Given the description of an element on the screen output the (x, y) to click on. 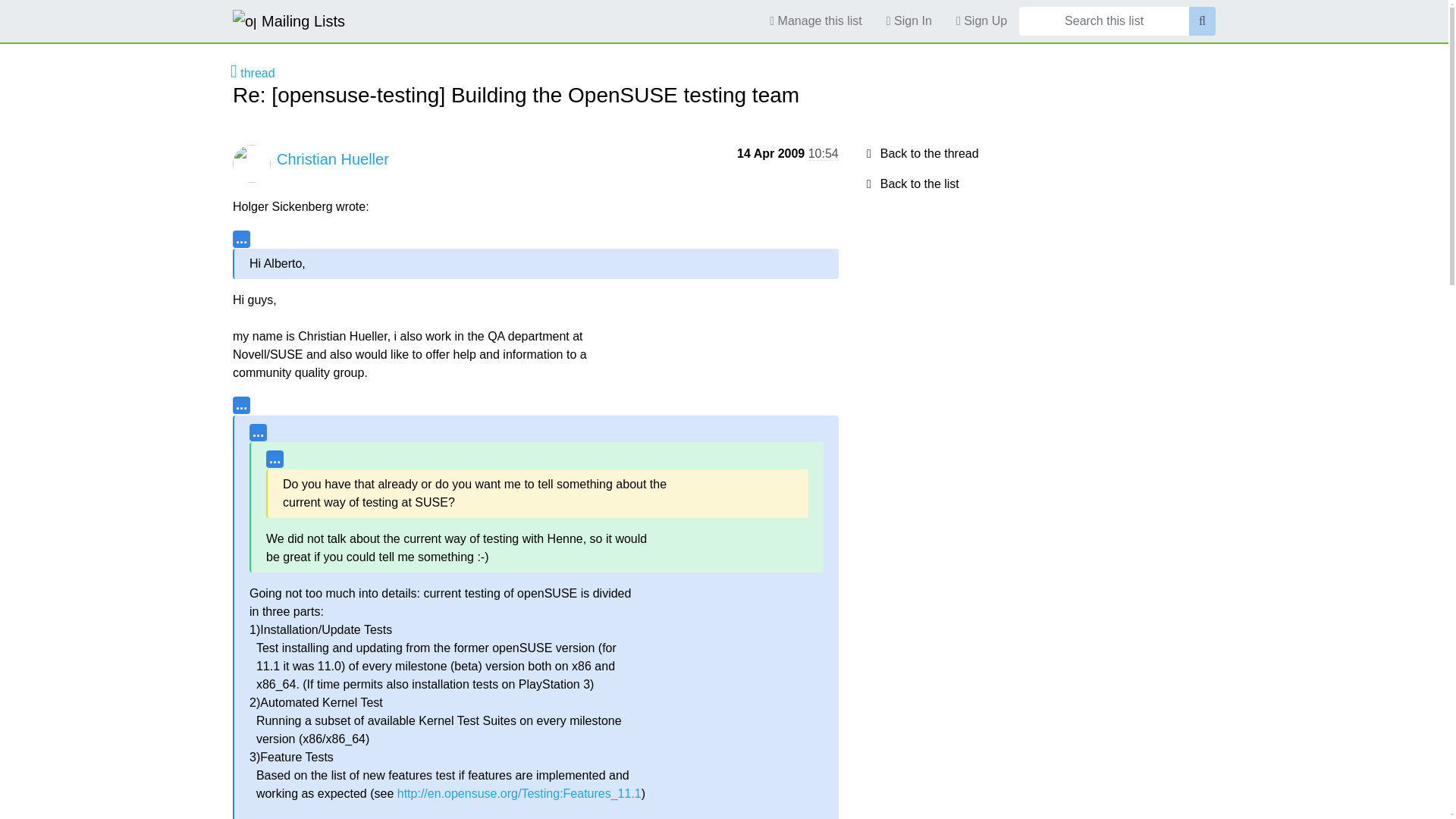
... (241, 405)
Back to the list (910, 183)
Sign In (909, 20)
thread (252, 72)
... (274, 458)
... (241, 239)
Manage this list (815, 20)
Mailing Lists (288, 20)
openSUSE Mailing Lists (288, 20)
Sender's time: April 14, 2009, 12:54 p.m. (823, 153)
